Given the description of an element on the screen output the (x, y) to click on. 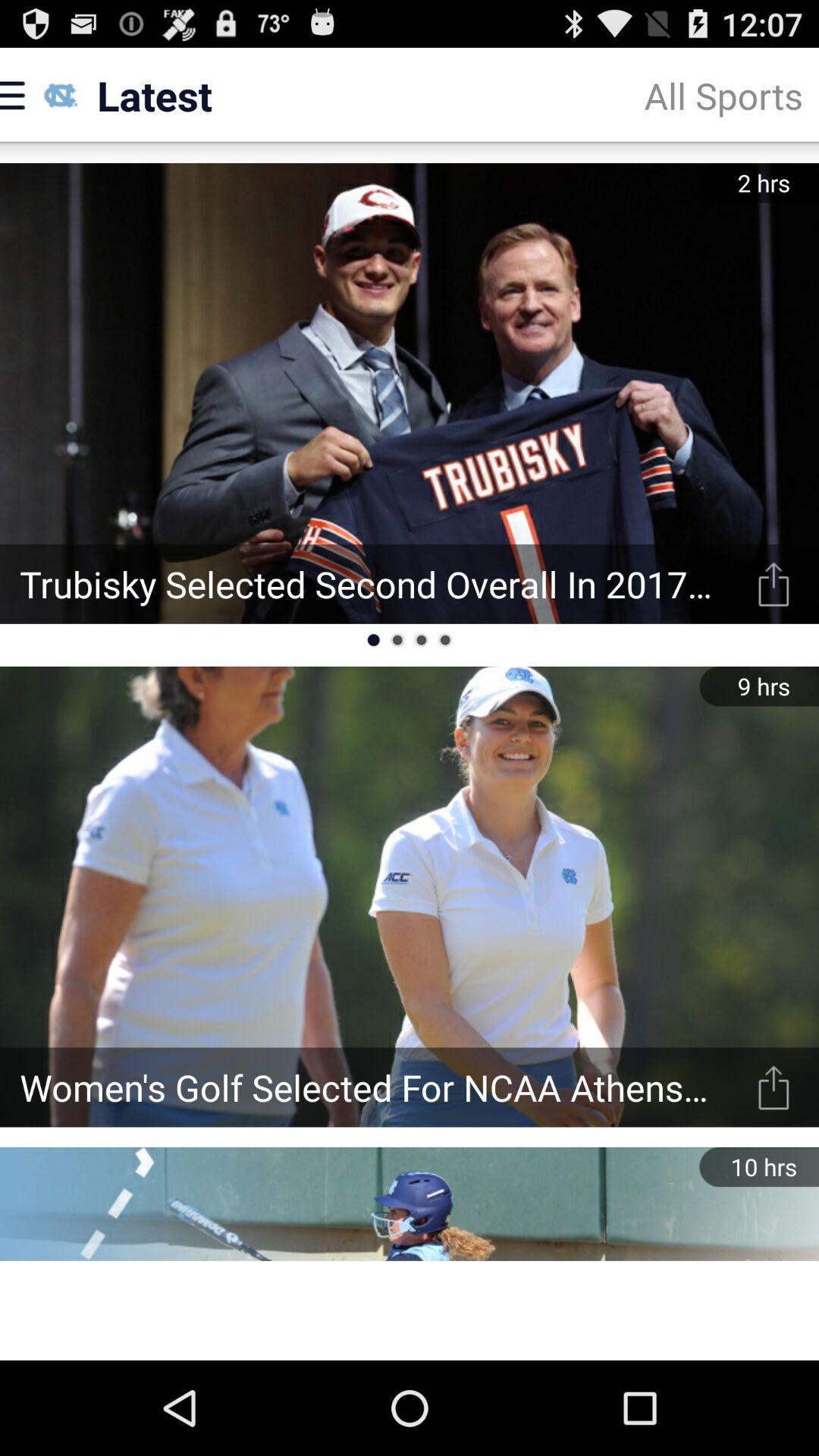
tap the icon to the right of the latest icon (723, 95)
